Given the description of an element on the screen output the (x, y) to click on. 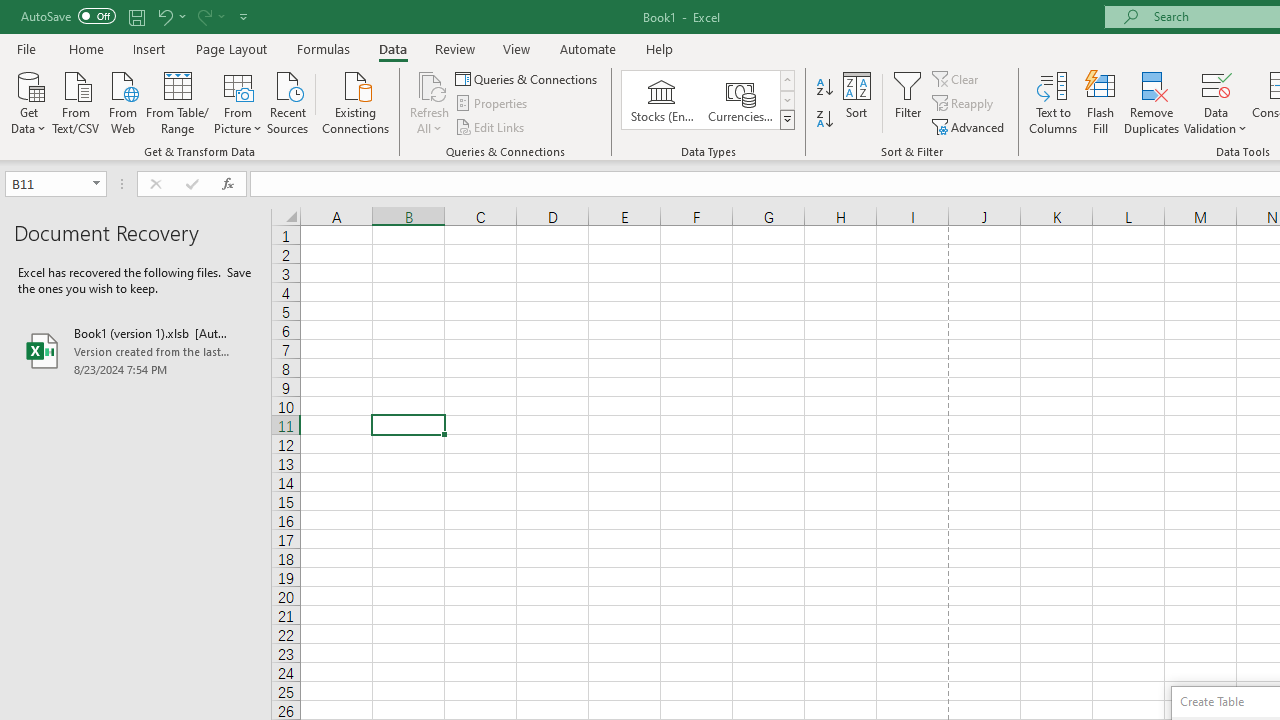
Get Data (28, 101)
Sort Z to A (824, 119)
Text to Columns... (1053, 102)
Properties (492, 103)
Queries & Connections (527, 78)
Recent Sources (287, 101)
From Text/CSV (75, 101)
